Given the description of an element on the screen output the (x, y) to click on. 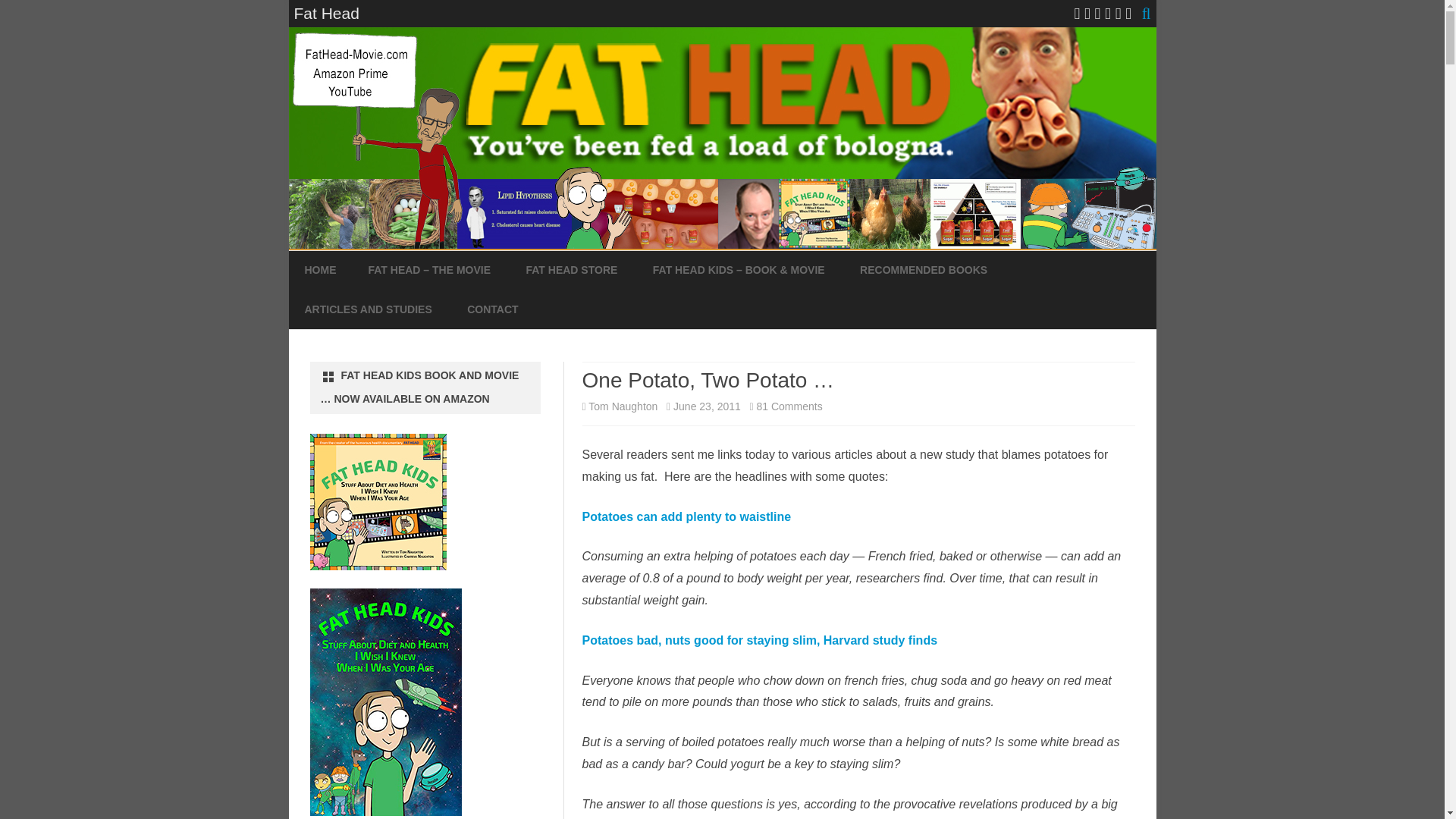
Tom Naughton (623, 406)
RECOMMENDED BOOKS (923, 270)
CONTACT (492, 310)
FAT HEAD STORE (571, 270)
ARTICLES AND STUDIES (368, 310)
Potatoes can add plenty to waistline (687, 516)
